Given the description of an element on the screen output the (x, y) to click on. 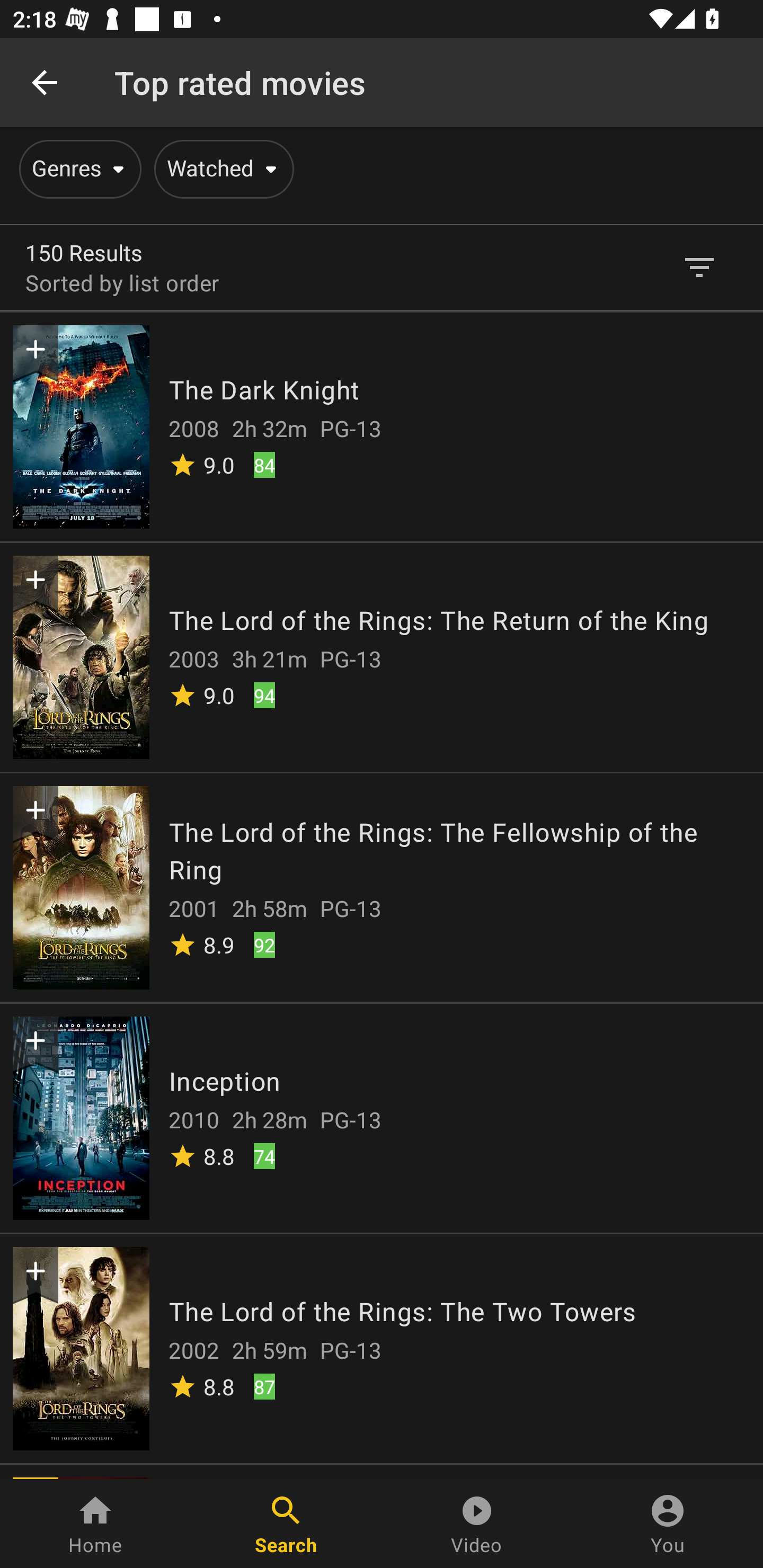
Genres (77, 169)
Watched (220, 169)
The Dark Knight 2008 2h 32m PG-13 9.0 84 (381, 425)
Inception 2010 2h 28m PG-13 8.8 74 (381, 1116)
Home (95, 1523)
Video (476, 1523)
You (667, 1523)
